Given the description of an element on the screen output the (x, y) to click on. 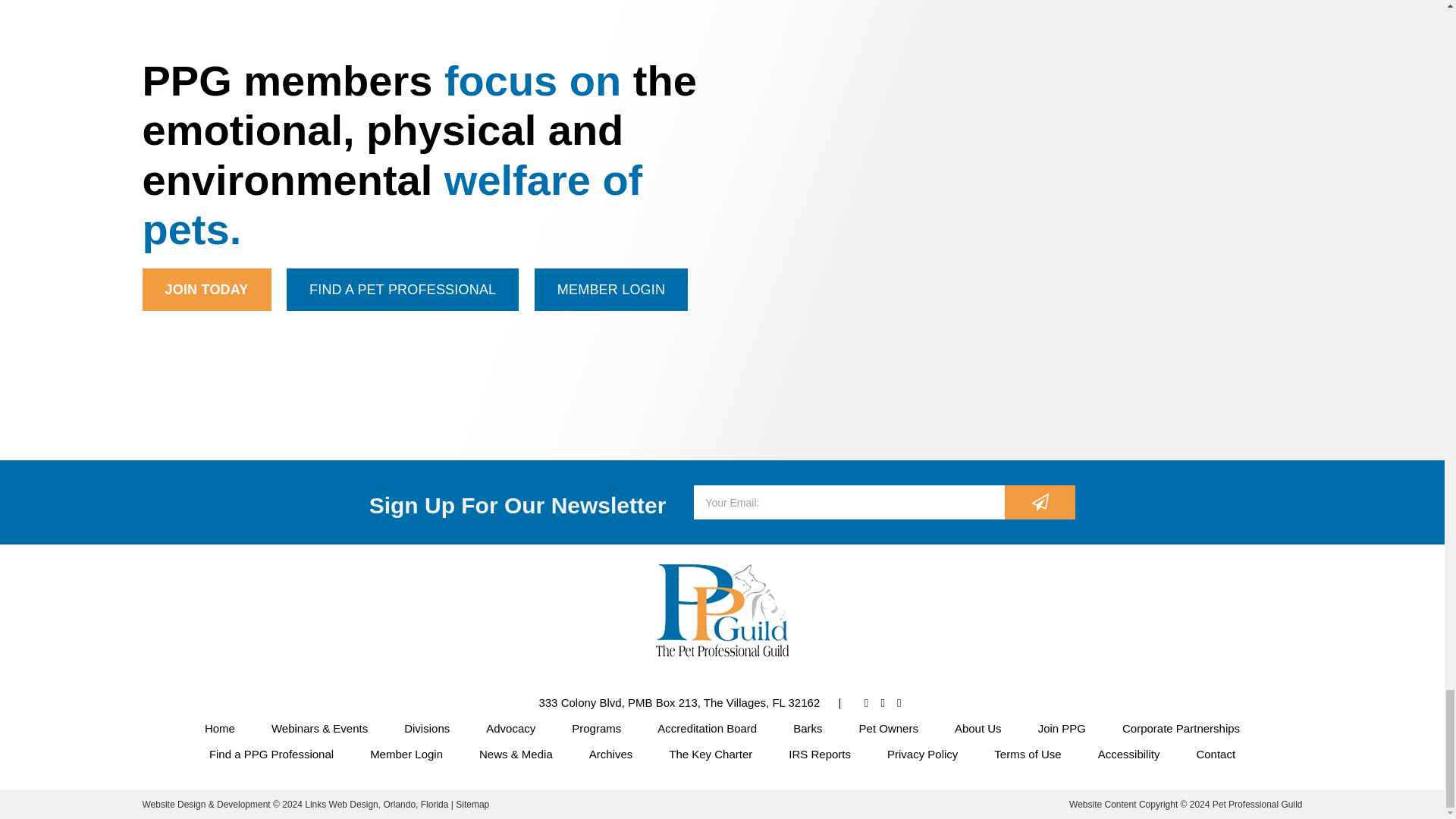
Links Web Design, Bangor, Maine (377, 804)
